Given the description of an element on the screen output the (x, y) to click on. 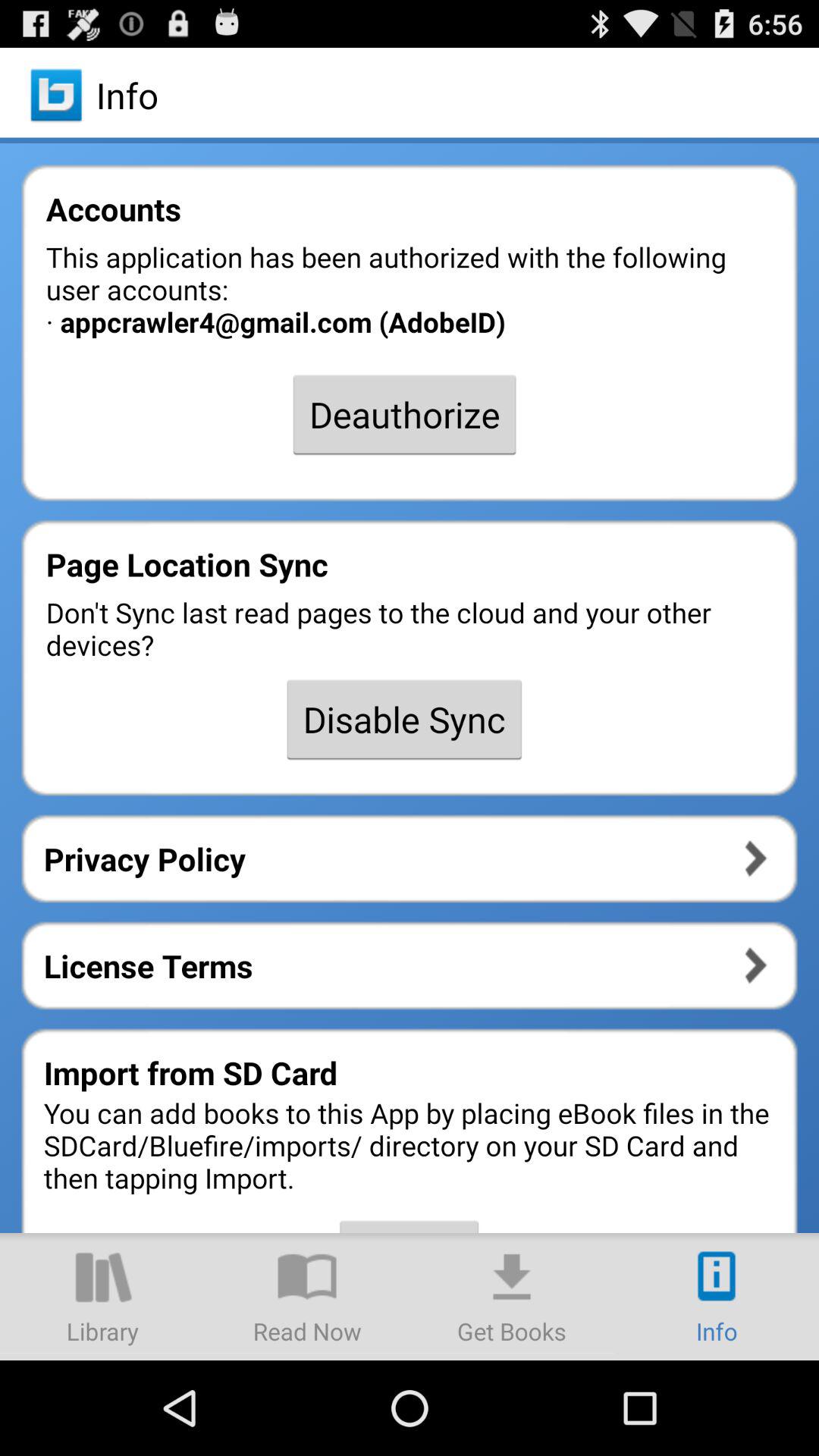
go to library (102, 1296)
